Given the description of an element on the screen output the (x, y) to click on. 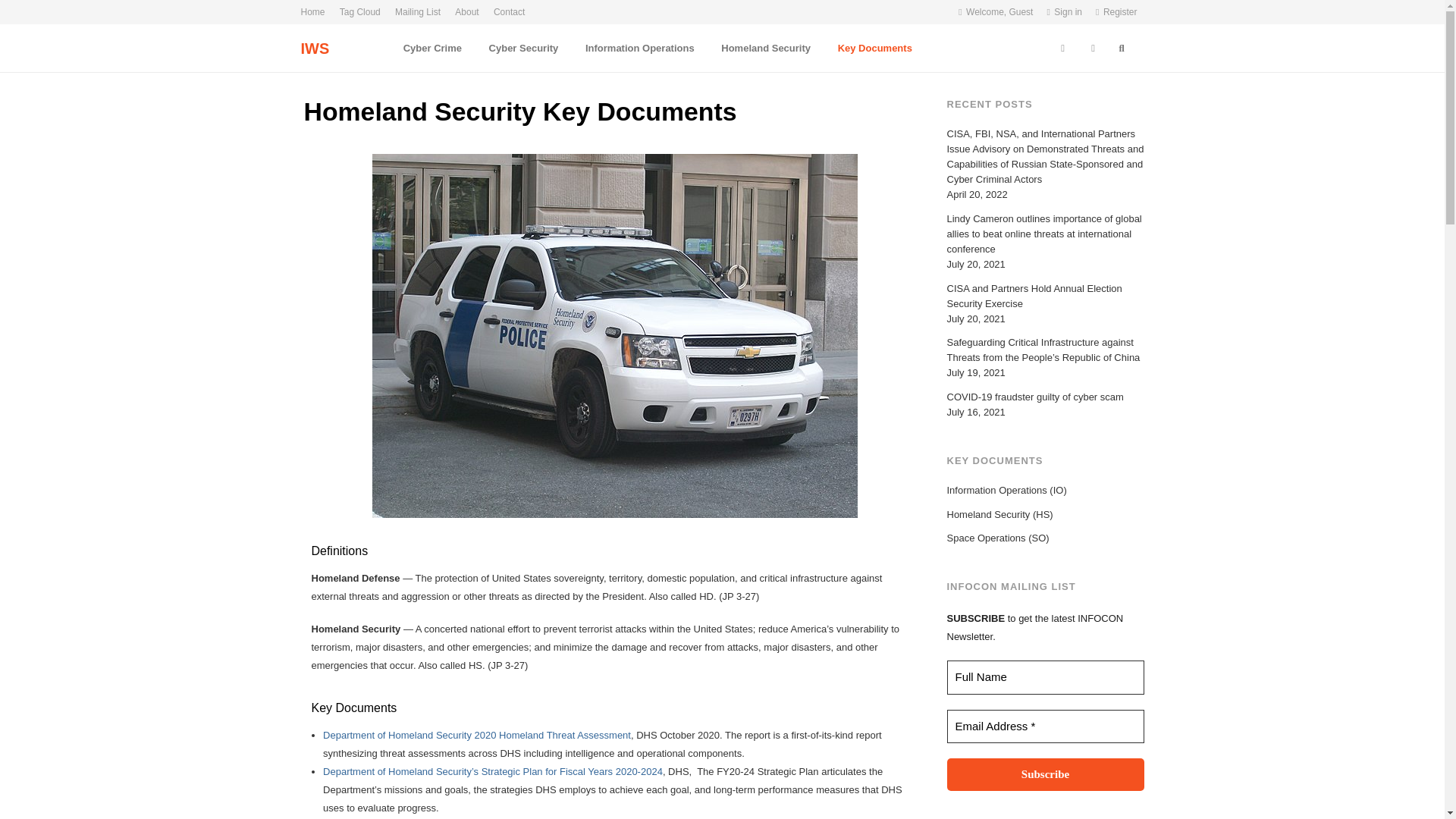
Mailing List (417, 12)
Tag Cloud (360, 12)
Contact (509, 12)
About (466, 12)
Search (25, 13)
Sign in (1064, 12)
Register for a new account (1116, 12)
IWS (314, 48)
Subscribe (1044, 774)
Information Operations (639, 48)
